Given the description of an element on the screen output the (x, y) to click on. 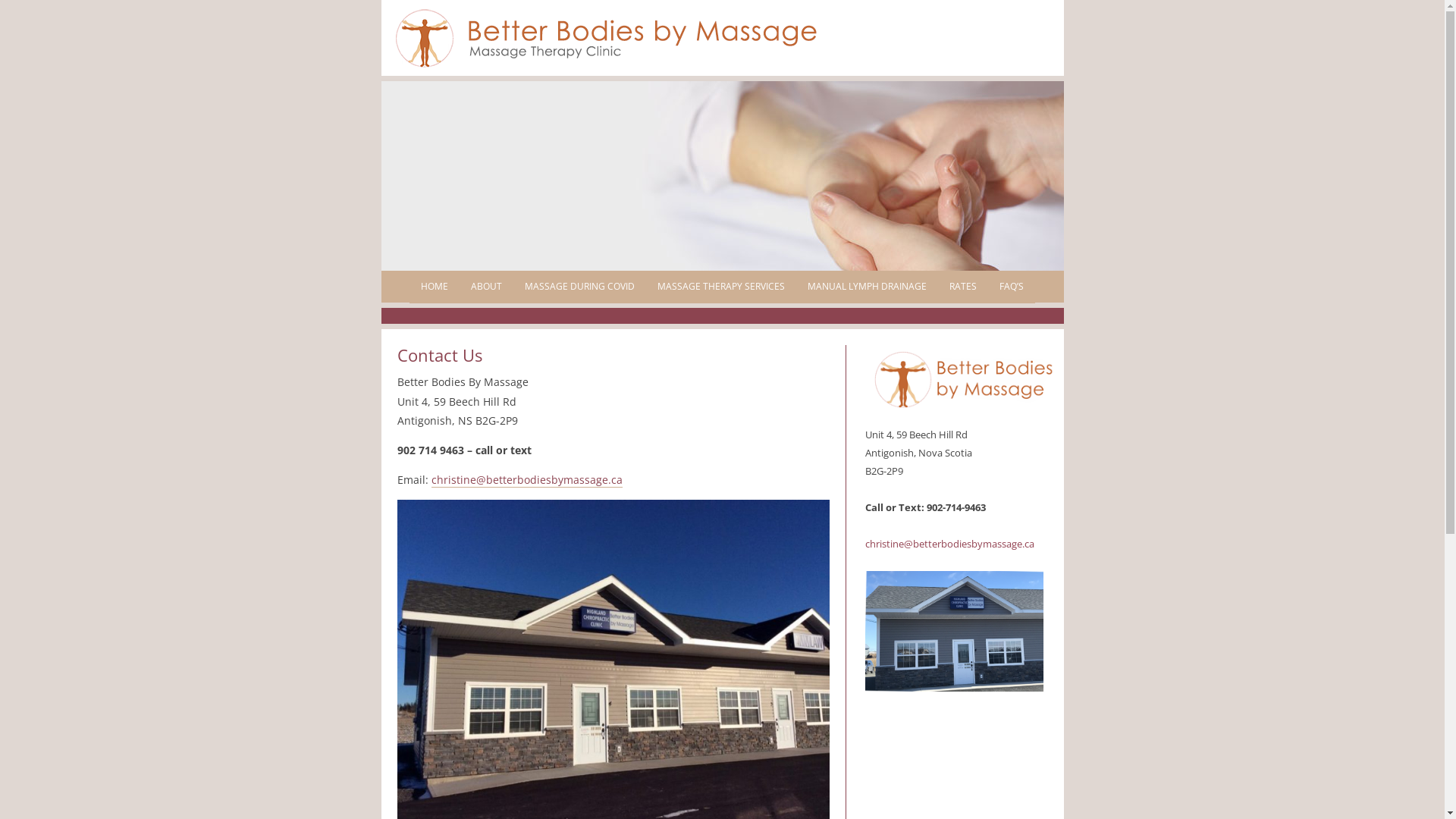
RATES Element type: text (963, 286)
MASSAGE DURING COVID Element type: text (579, 286)
ABOUT Element type: text (486, 286)
MASSAGE THERAPY SERVICES Element type: text (721, 286)
christine@betterbodiesbymassage.ca Element type: text (525, 479)
HOME Element type: text (434, 286)
Skip to content Element type: text (759, 276)
christine@betterbodiesbymassage.ca Element type: text (949, 543)
MANUAL LYMPH DRAINAGE Element type: text (867, 286)
